Given the description of an element on the screen output the (x, y) to click on. 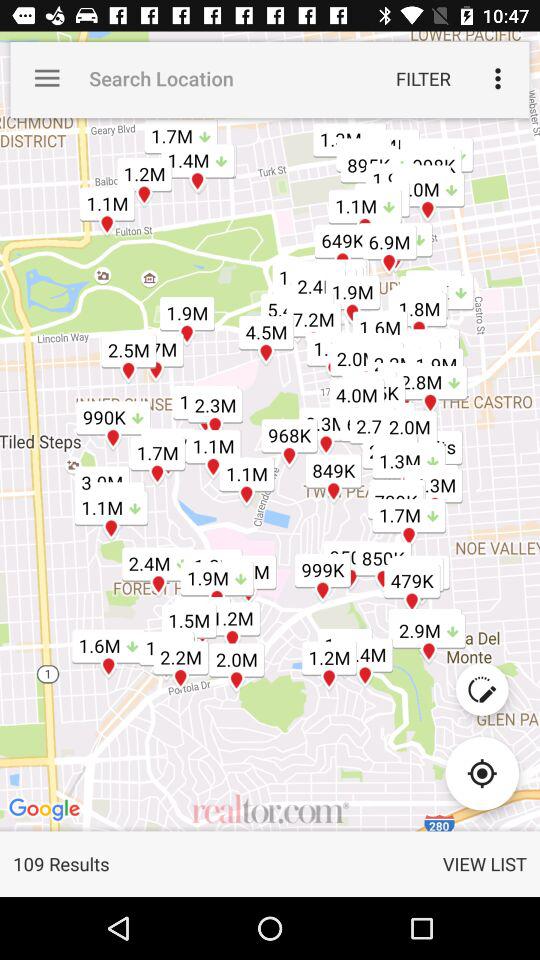
open filter (423, 78)
